Given the description of an element on the screen output the (x, y) to click on. 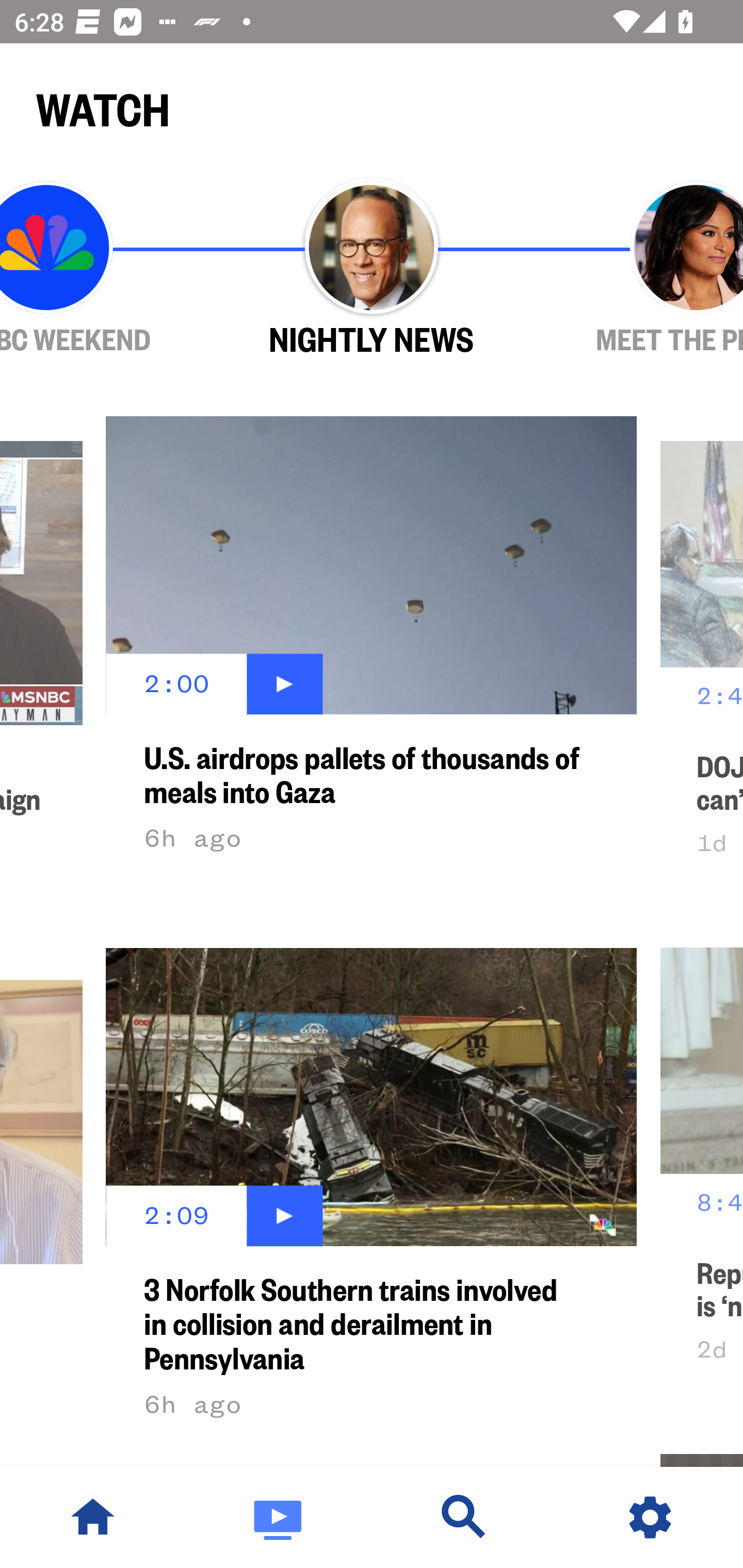
MSNBC WEEKEND (104, 268)
NIGHTLY NEWS (371, 268)
MEET THE PRESS (638, 268)
NBC News Home (92, 1517)
Discover (464, 1517)
Settings (650, 1517)
